Given the description of an element on the screen output the (x, y) to click on. 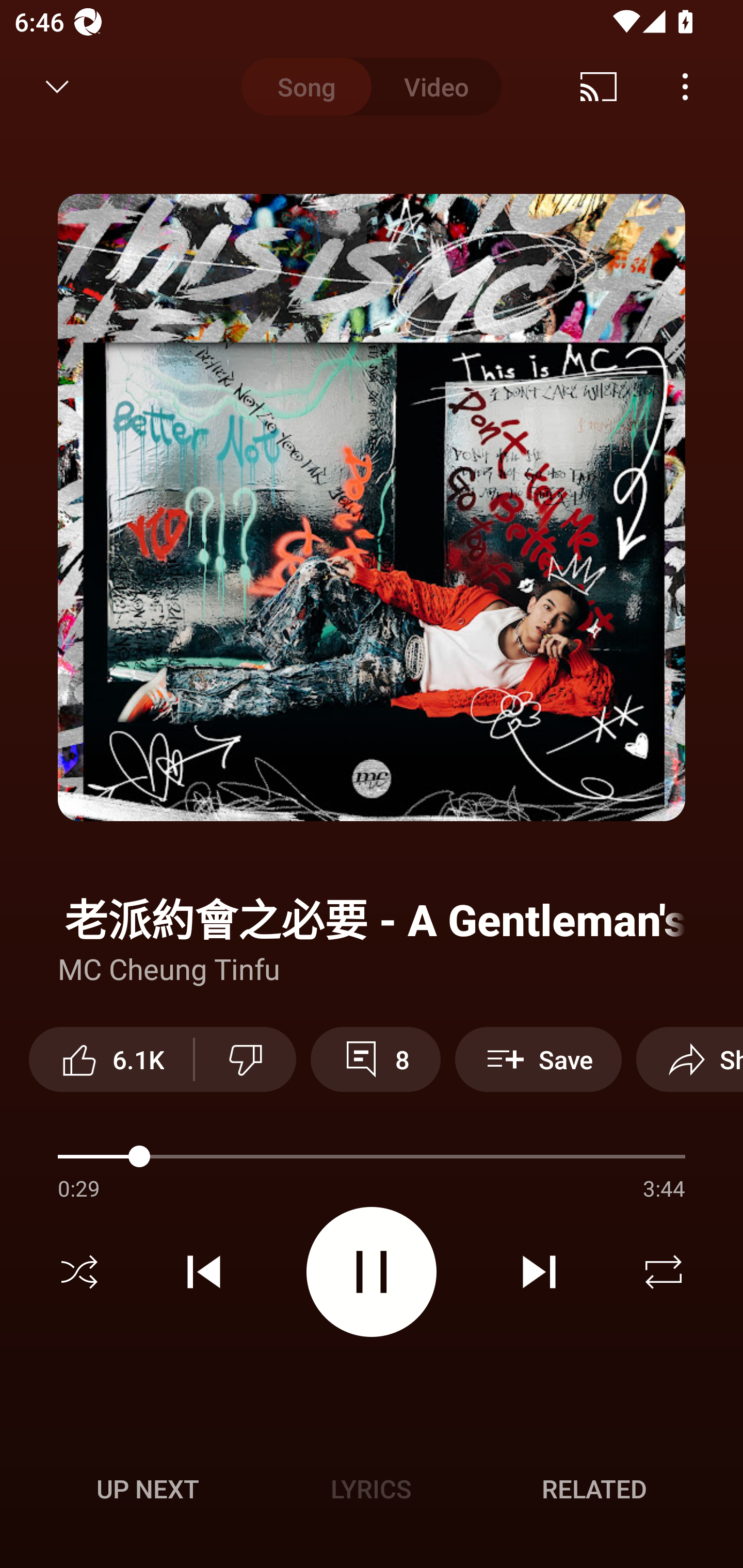
Minimize (57, 86)
Cast. Disconnected (598, 86)
Menu (684, 86)
6.1K like this video along with 6,122 other people (110, 1059)
Dislike (245, 1059)
8 View 8 comments (375, 1059)
Save Save to playlist (537, 1059)
Share (689, 1059)
Pause video (371, 1272)
Shuffle off (79, 1272)
Previous track (203, 1272)
Next track (538, 1272)
Repeat off (663, 1272)
Up next UP NEXT Lyrics LYRICS Related RELATED (371, 1491)
Lyrics LYRICS (370, 1488)
Related RELATED (594, 1488)
